Given the description of an element on the screen output the (x, y) to click on. 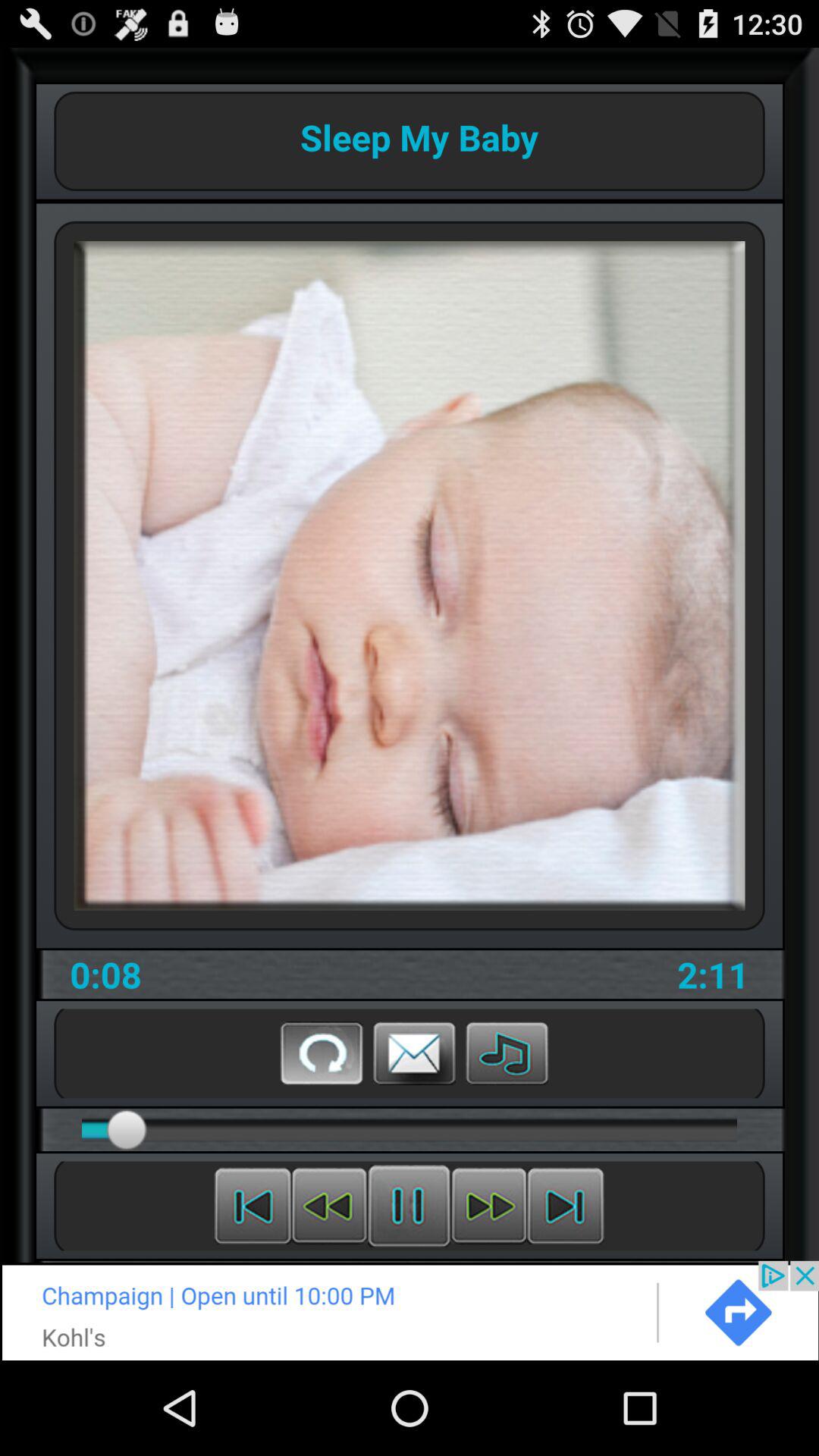
scroll back on current media file (329, 1205)
